Given the description of an element on the screen output the (x, y) to click on. 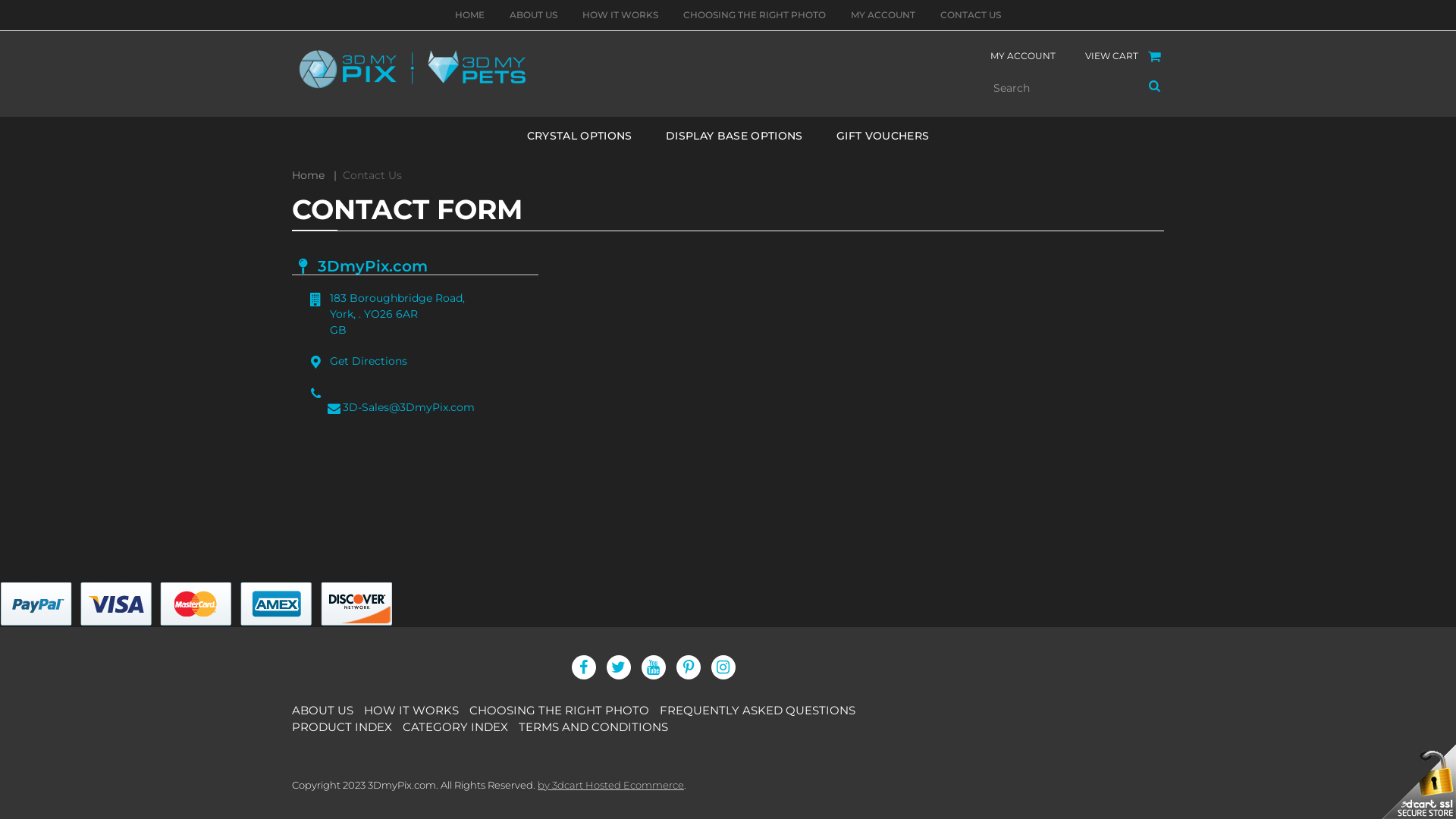
3D-Sales@3DmyPix.com Element type: text (415, 407)
Credit Card Logos Element type: hover (196, 604)
MY ACCOUNT Element type: text (1022, 55)
PRODUCT INDEX Element type: text (345, 726)
Subscribe to our Channel Element type: hover (653, 667)
HOW IT WORKS Element type: text (620, 14)
Follow Us on Pinterest Element type: hover (688, 667)
VIEW CART Element type: text (1111, 56)
Get Directions Element type: text (415, 361)
DISPLAY BASE OPTIONS Element type: text (734, 135)
HOME Element type: text (469, 14)
Home Element type: text (307, 175)
ABOUT US Element type: text (533, 14)
TERMS AND CONDITIONS Element type: text (596, 726)
Follow Us on Instagram Element type: hover (723, 667)
ABOUT US Element type: text (325, 709)
by 3dcart Hosted Ecommerce Element type: text (610, 784)
CRYSTAL OPTIONS Element type: text (579, 135)
CATEGORY INDEX Element type: text (458, 726)
Follow Us on Twitter Element type: hover (618, 667)
HOW IT WORKS Element type: text (415, 709)
Like Us on Facebook Element type: hover (583, 667)
CONTACT US Element type: text (970, 14)
MY ACCOUNT Element type: text (882, 14)
FREQUENTLY ASKED QUESTIONS Element type: text (760, 709)
GIFT VOUCHERS Element type: text (882, 135)
CHOOSING THE RIGHT PHOTO Element type: text (754, 14)
CHOOSING THE RIGHT PHOTO Element type: text (562, 709)
